Given the description of an element on the screen output the (x, y) to click on. 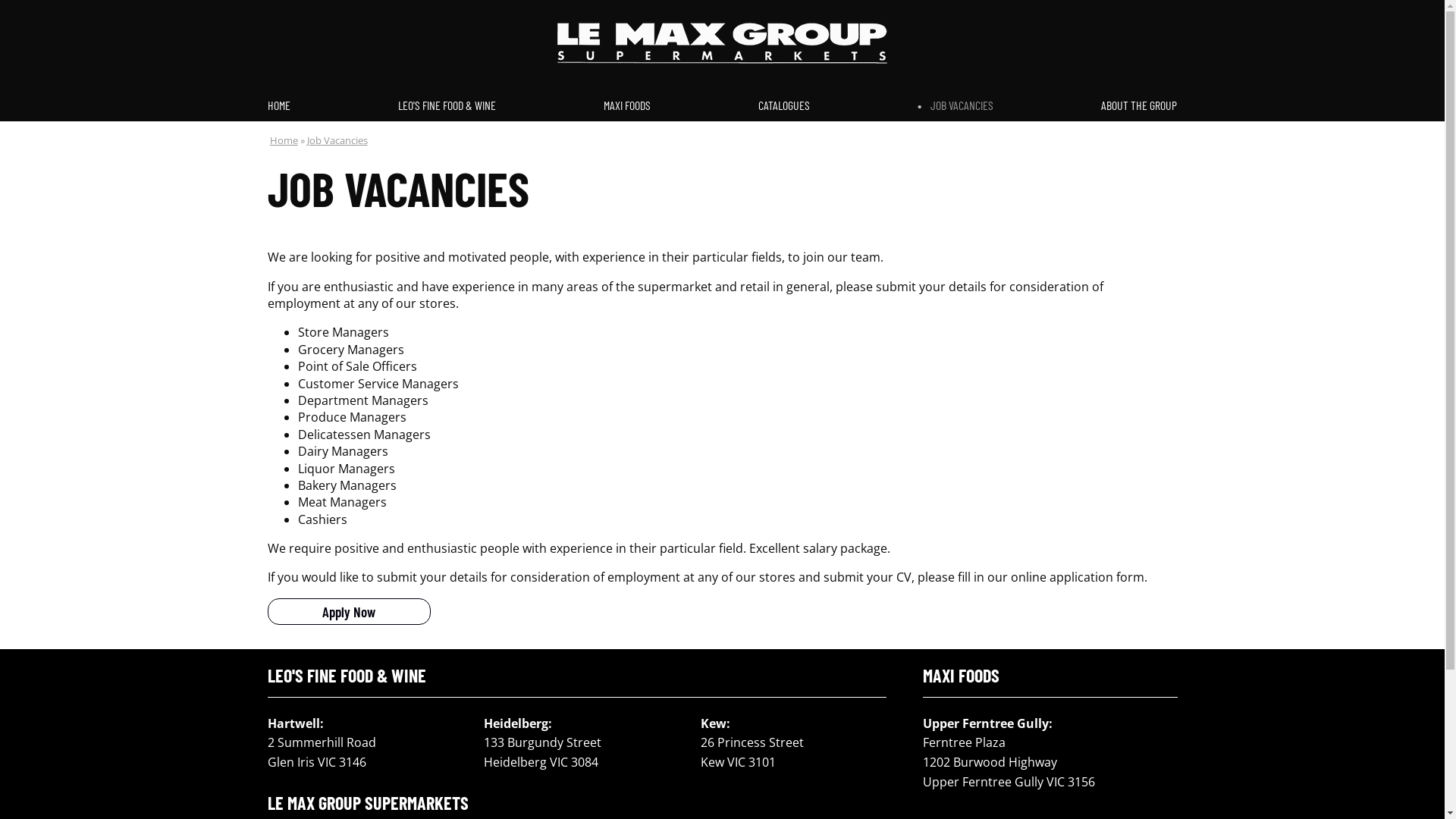
LEO'S FINE FOOD & WINE Element type: text (446, 105)
MAXI FOODS Element type: text (627, 105)
HOME Element type: text (281, 105)
JOB VACANCIES Element type: text (955, 105)
Job Vacancies Element type: text (336, 140)
ABOUT THE GROUP Element type: text (1134, 105)
Home Element type: text (283, 140)
CATALOGUES Element type: text (783, 105)
Apply Now Element type: text (347, 611)
